Given the description of an element on the screen output the (x, y) to click on. 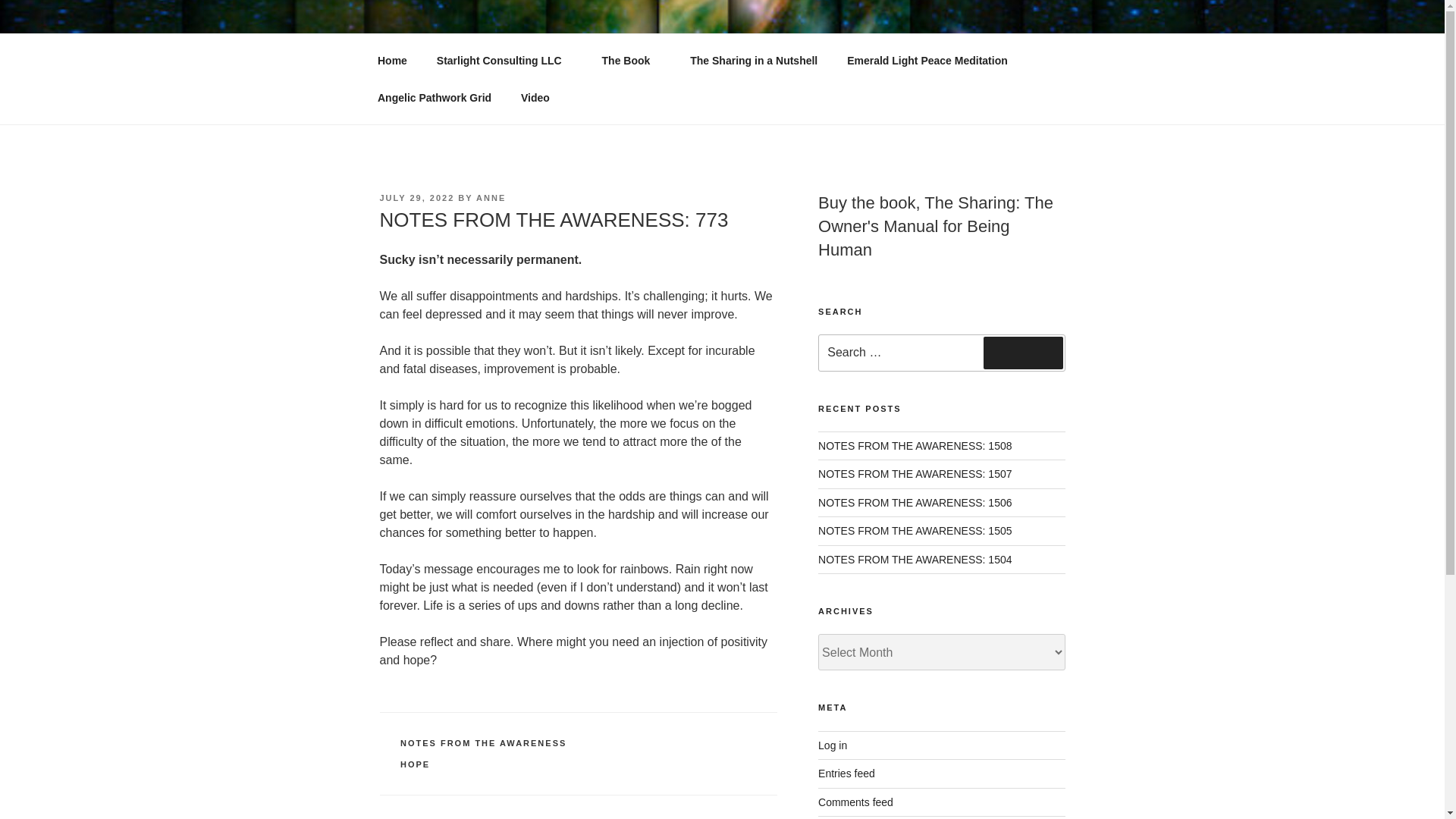
Search (1023, 352)
NOTES FROM THE AWARENESS: 1504 (914, 559)
Log in (832, 745)
Home (392, 60)
Video (535, 97)
Emerald Light Peace Meditation (928, 60)
HOPE (414, 764)
The Book (631, 60)
NOTES FROM THE AWARENESS (483, 742)
STARLIGHT CONSULTING LLC (605, 52)
Starlight Consulting LLC (504, 60)
NOTES FROM THE AWARENESS: 1508 (914, 445)
NOTES FROM THE AWARENESS: 1505 (914, 530)
NOTES FROM THE AWARENESS: 1506 (914, 502)
The Sharing in a Nutshell (754, 60)
